Given the description of an element on the screen output the (x, y) to click on. 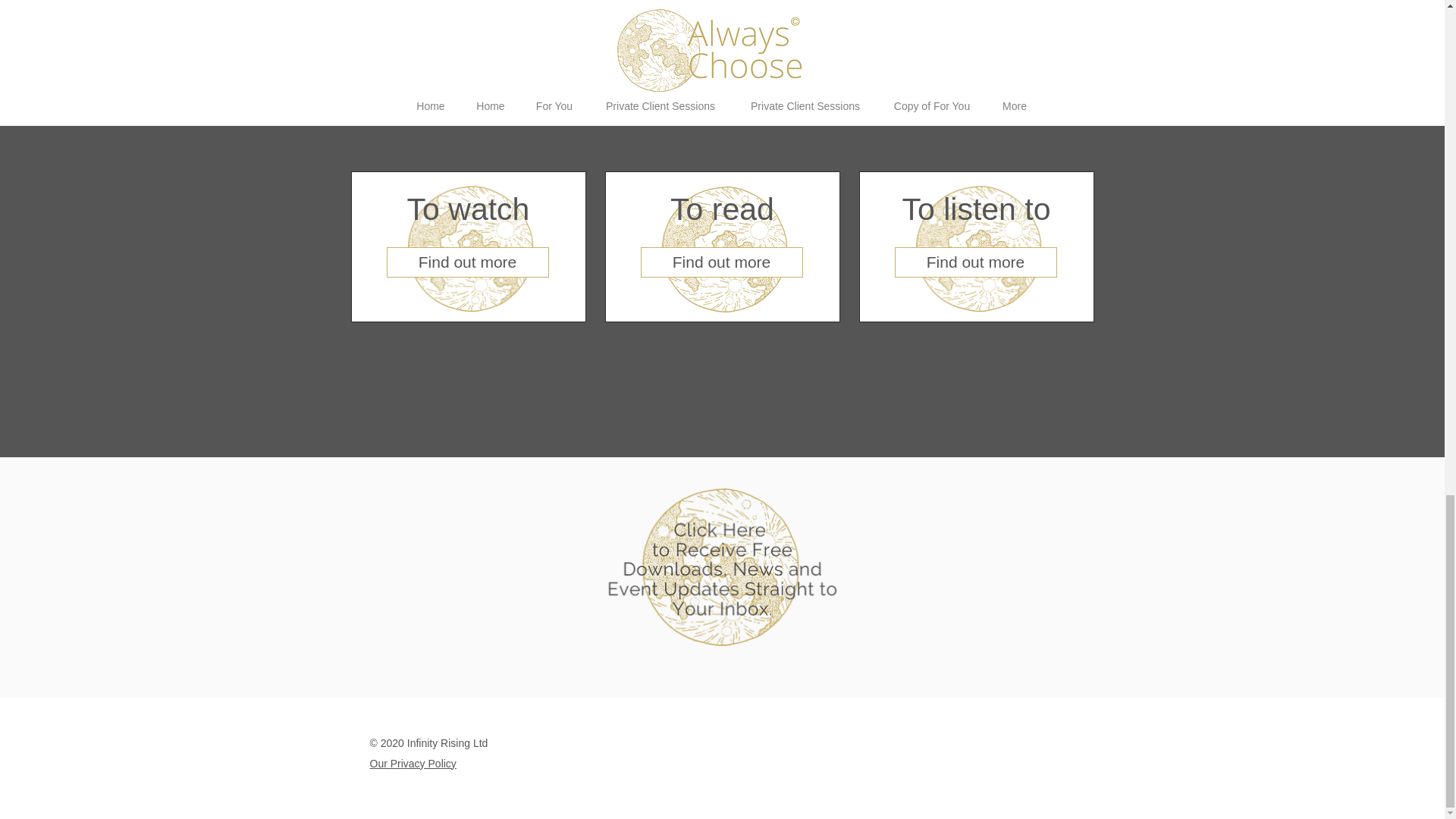
Find out more (976, 262)
Find out more (721, 262)
Our Privacy Policy (413, 763)
Find out more (467, 262)
